Given the description of an element on the screen output the (x, y) to click on. 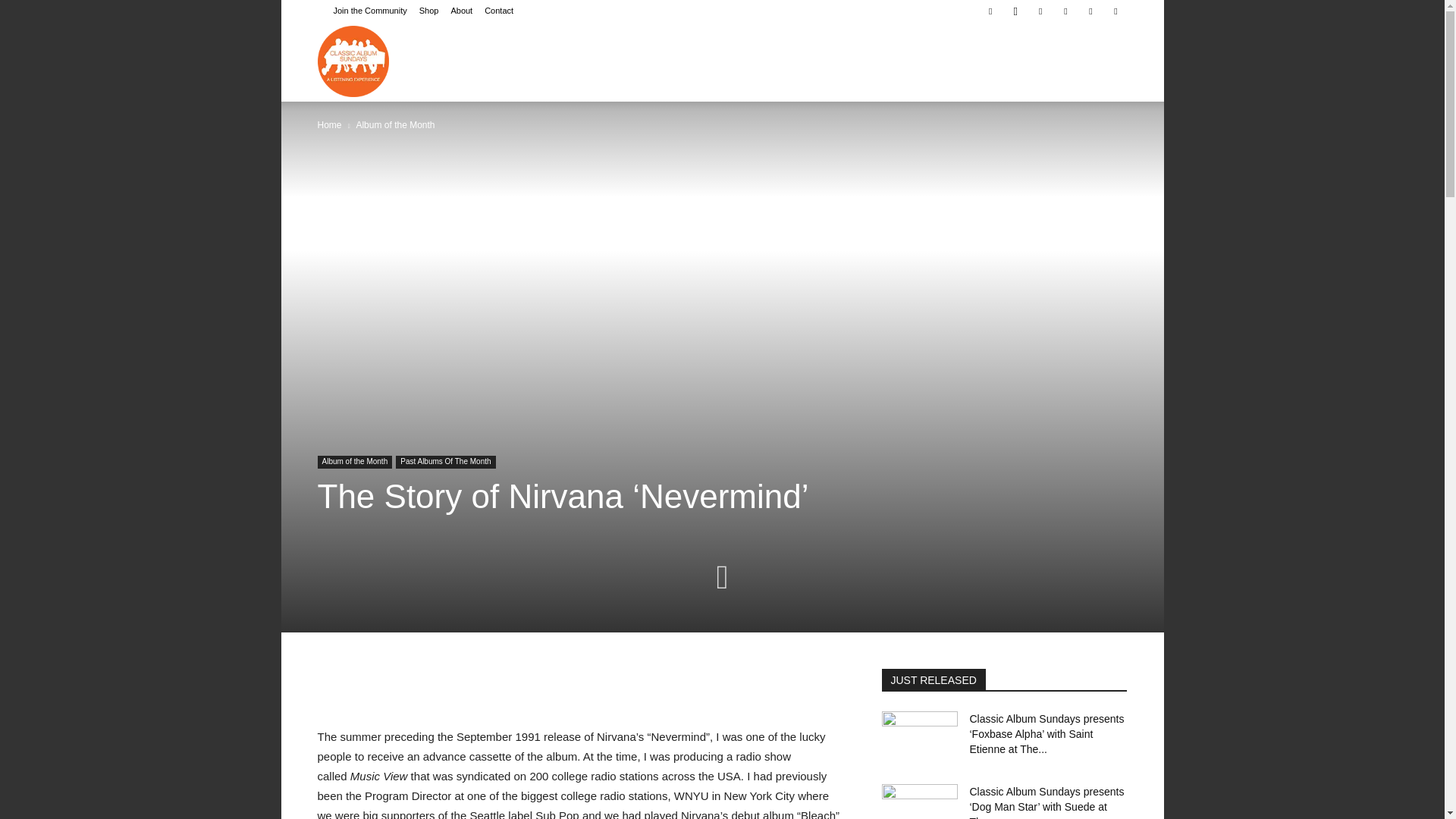
Join the Community (370, 10)
Shop (429, 10)
Youtube (1114, 10)
Pinterest (1040, 10)
Instagram (1015, 10)
Twitter (1090, 10)
Spotify (1065, 10)
Facebook (989, 10)
About (460, 10)
